Given the description of an element on the screen output the (x, y) to click on. 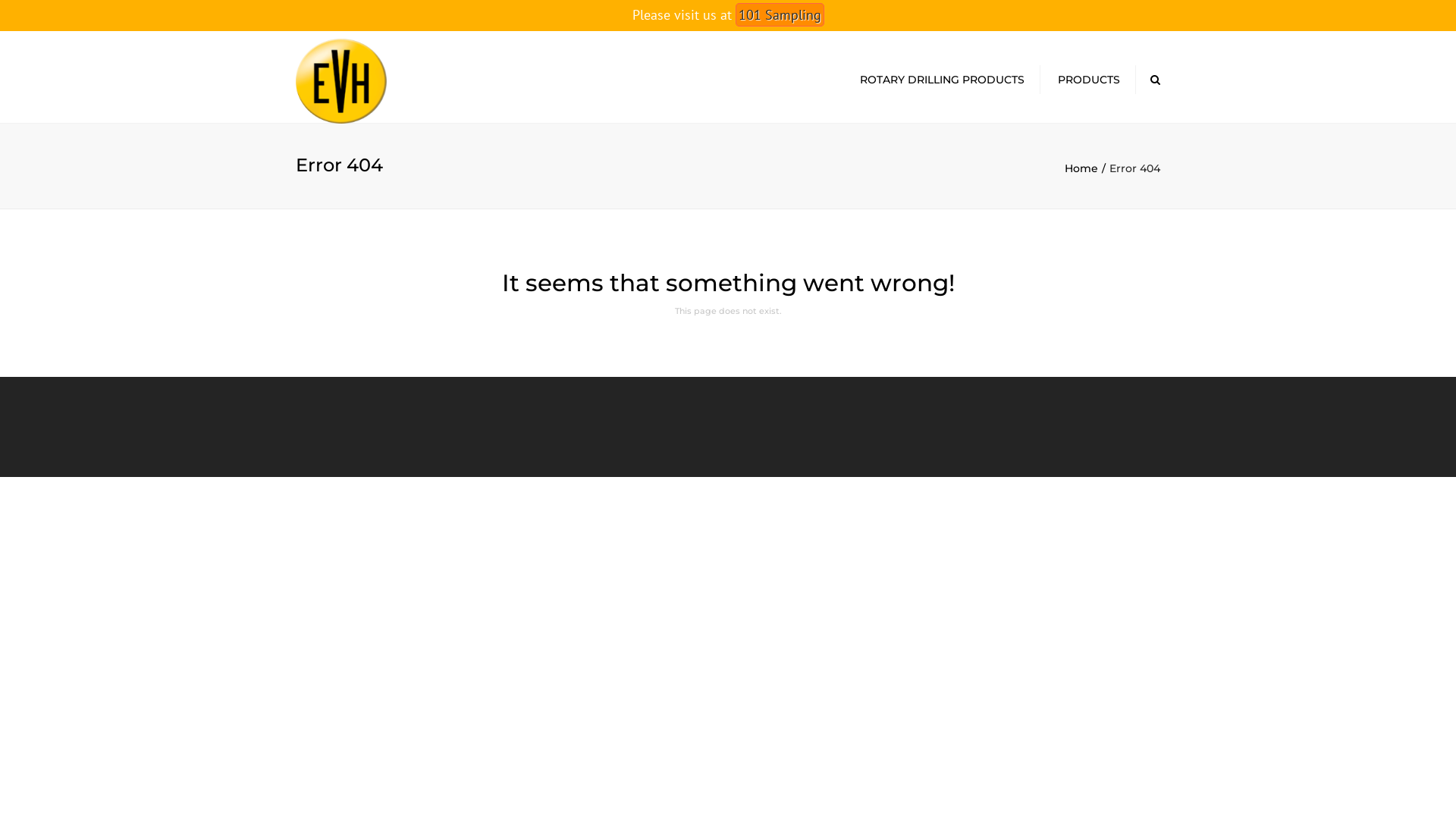
101 Sampling Element type: text (779, 14)
ROTARY DRILLING PRODUCTS Element type: text (942, 80)
Home Element type: text (1086, 168)
Search Element type: text (1154, 79)
PRODUCTS Element type: text (1088, 80)
